Given the description of an element on the screen output the (x, y) to click on. 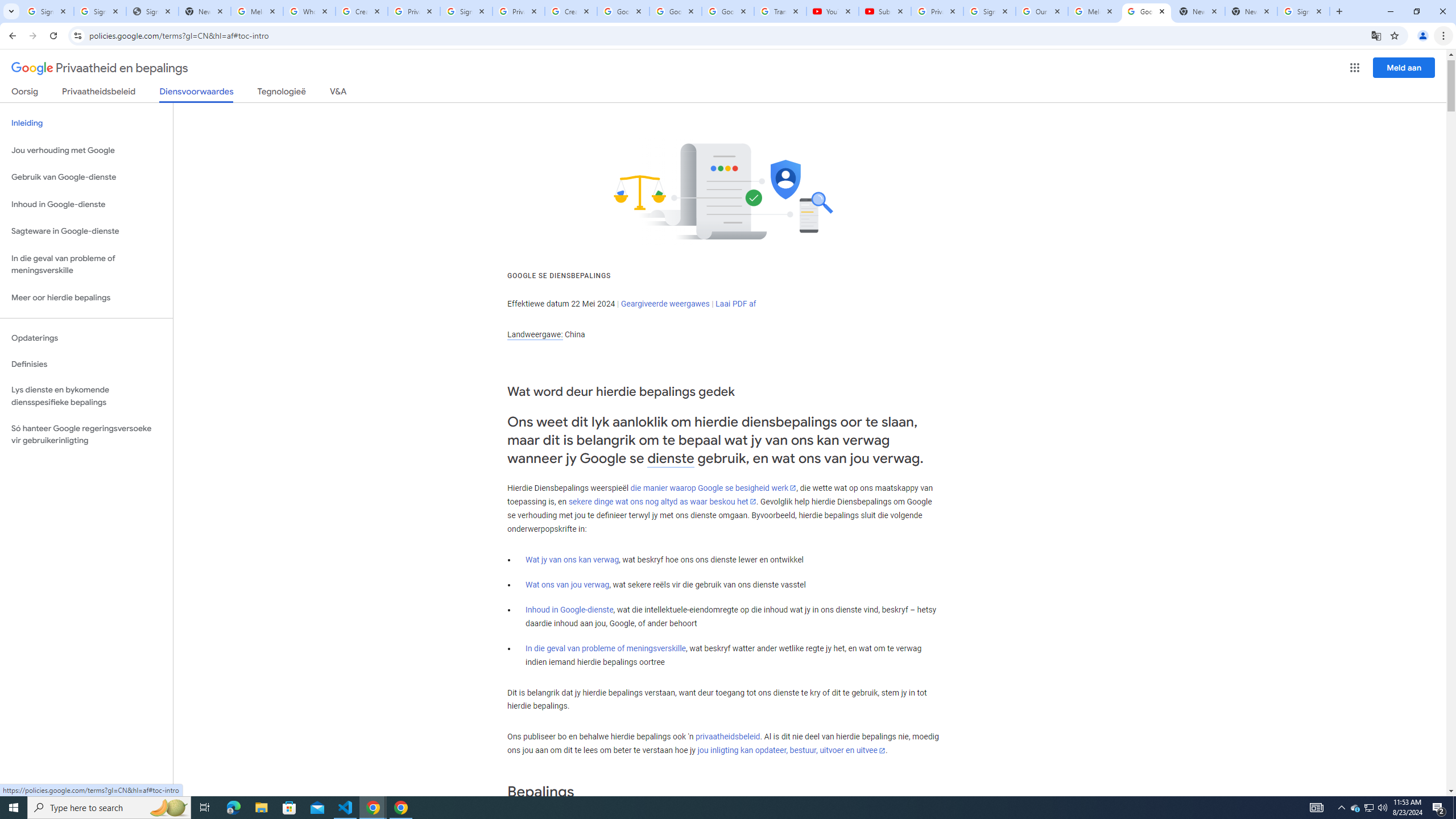
Inleiding (86, 122)
Sagteware in Google-dienste (86, 230)
Gebruik van Google-dienste (86, 176)
Sign in - Google Accounts (989, 11)
YouTube (831, 11)
die manier waarop Google se besigheid werk (713, 488)
Sign in - Google Accounts (47, 11)
Sign In - USA TODAY (151, 11)
Sign in - Google Accounts (99, 11)
Sign in - Google Accounts (466, 11)
